Given the description of an element on the screen output the (x, y) to click on. 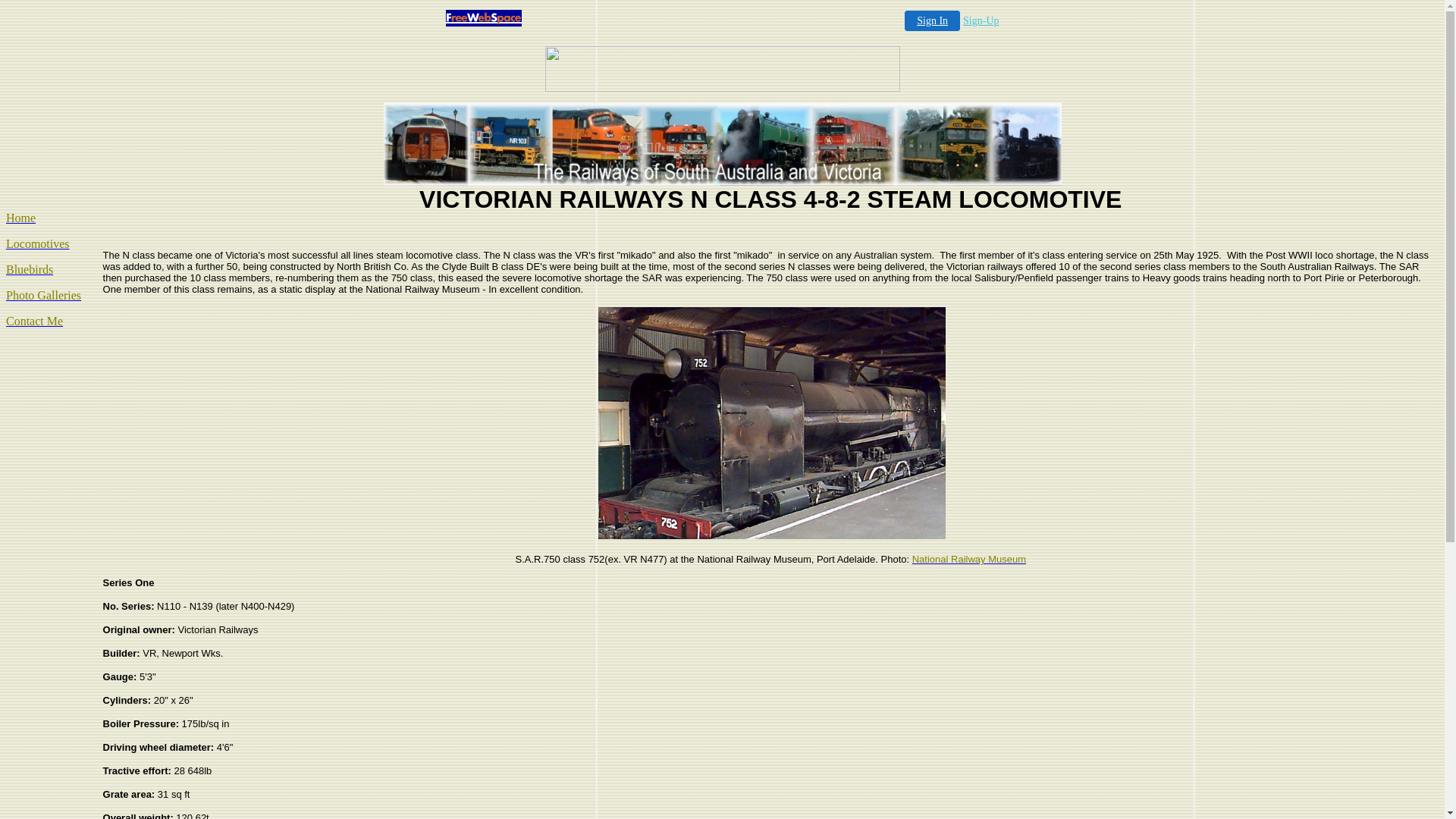
Locomotives Element type: text (37, 243)
Sign-Up Element type: text (980, 20)
Bluebirds Element type: text (29, 269)
Contact Me Element type: text (34, 320)
Sign In Element type: text (932, 20)
Home Element type: text (20, 217)
National Railway Museum Element type: text (969, 558)
Photo Galleries Element type: text (43, 294)
